Given the description of an element on the screen output the (x, y) to click on. 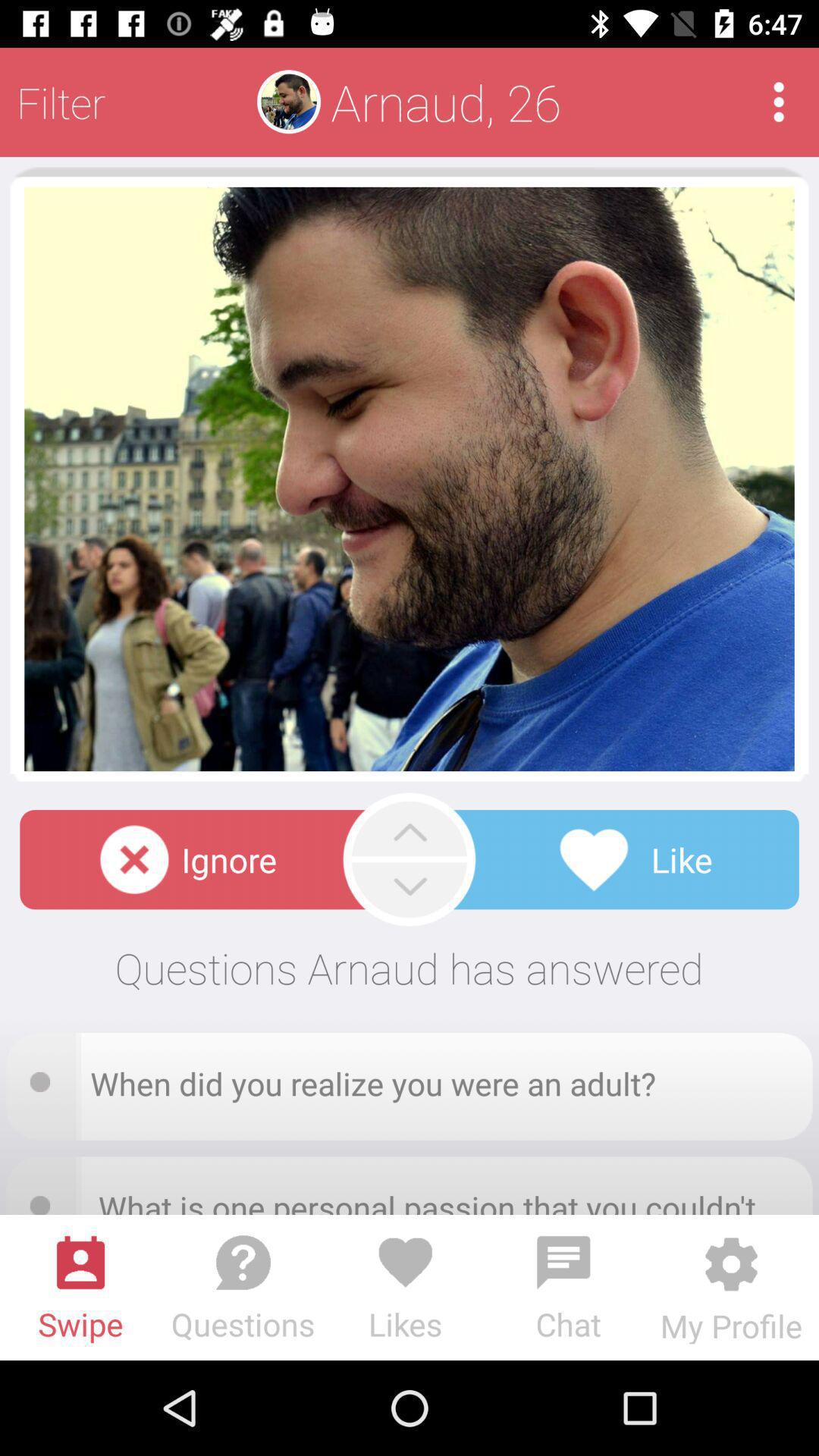
launch filter item (61, 102)
